Given the description of an element on the screen output the (x, y) to click on. 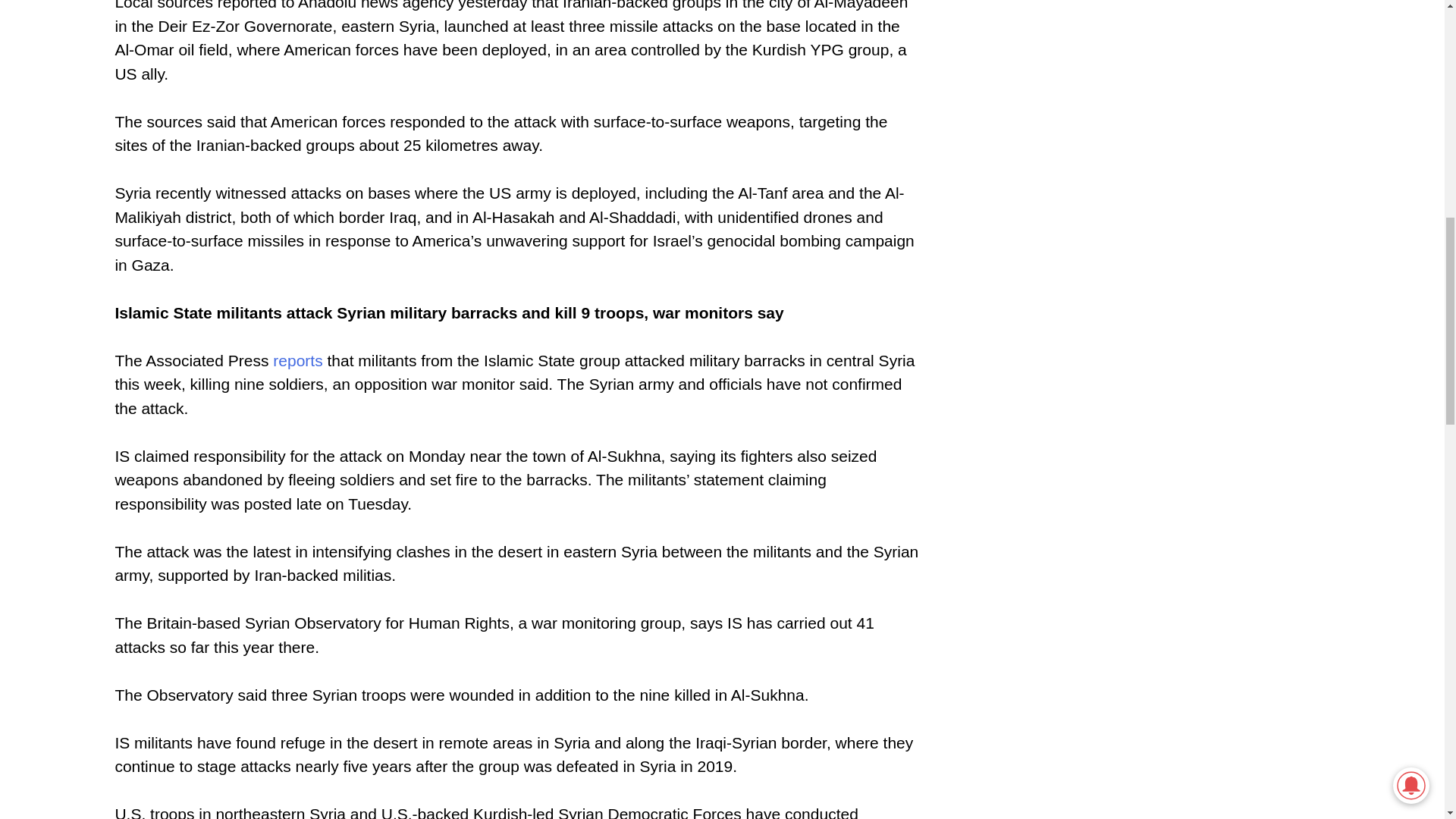
reports (297, 360)
